Given the description of an element on the screen output the (x, y) to click on. 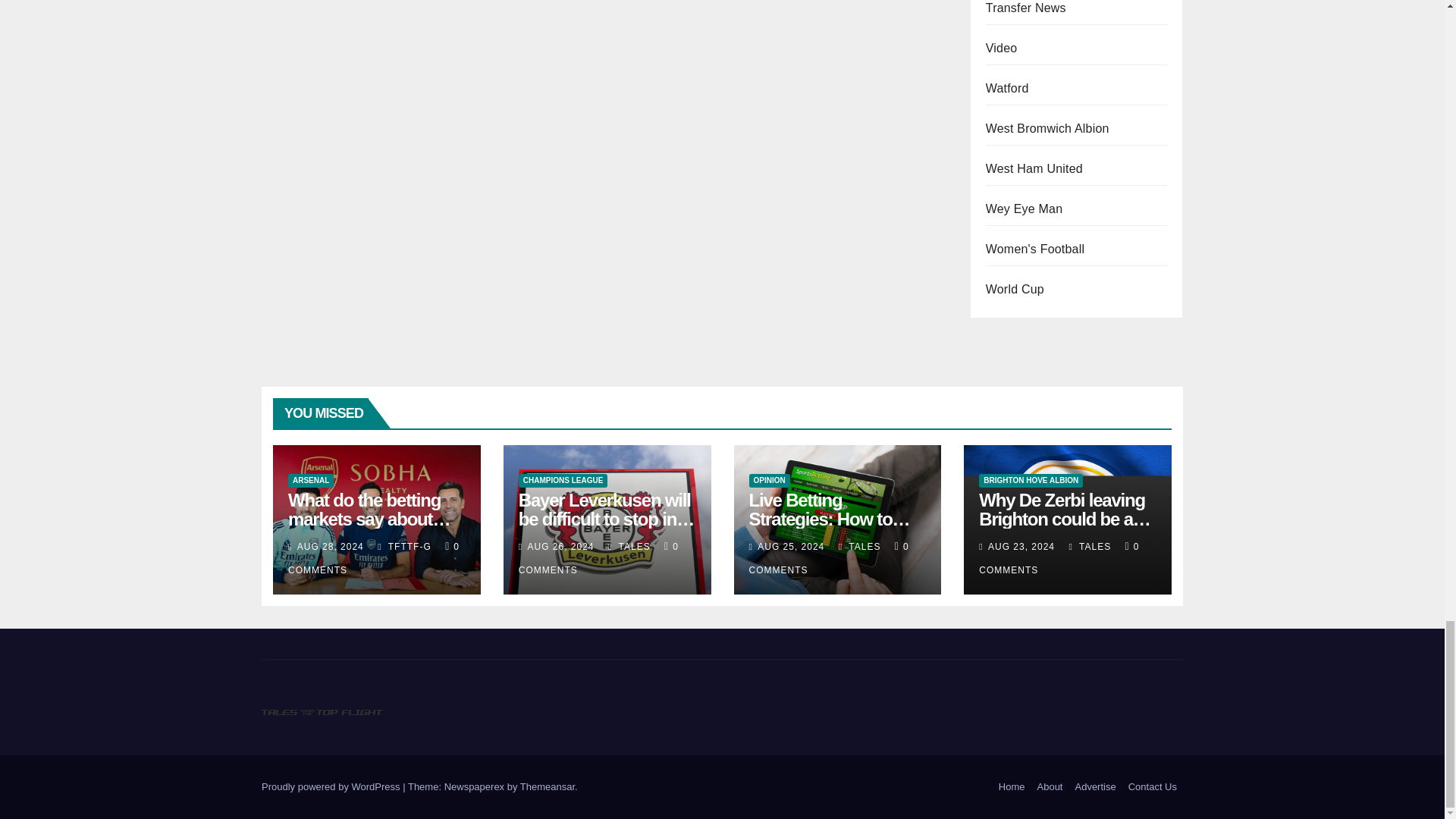
Home (1011, 786)
